Given the description of an element on the screen output the (x, y) to click on. 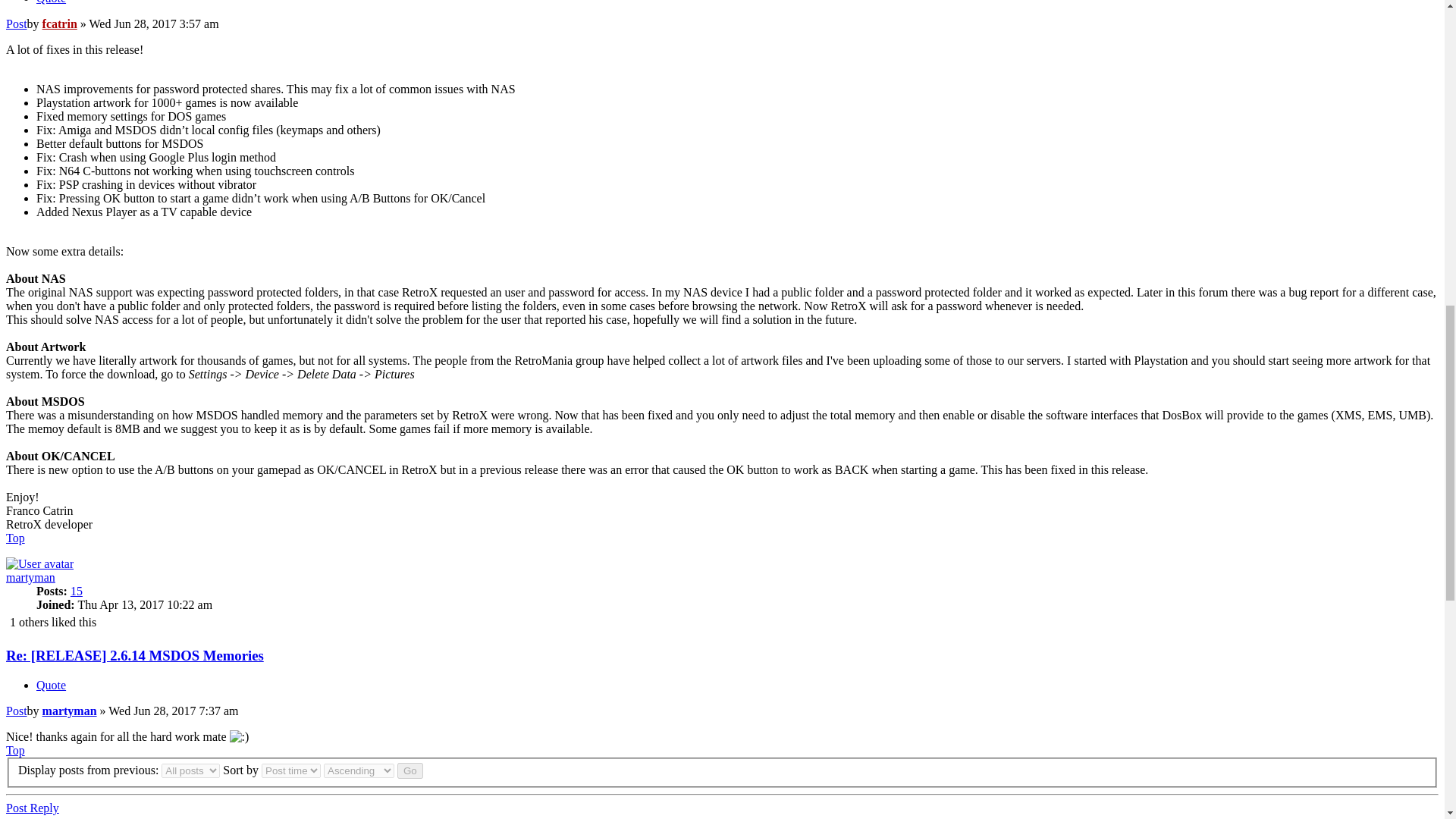
Post (16, 23)
Quote (50, 2)
Go (410, 770)
